Given the description of an element on the screen output the (x, y) to click on. 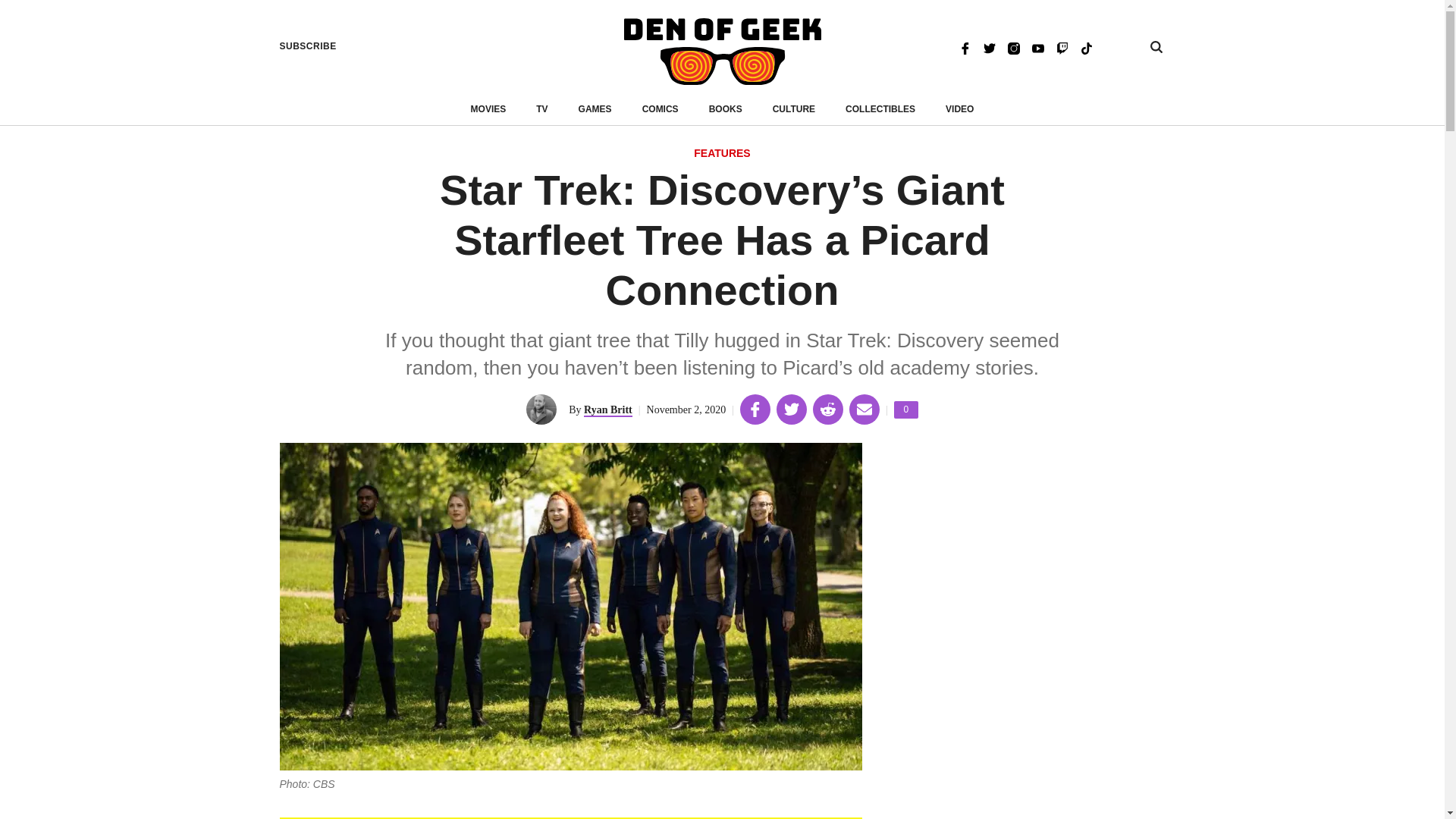
CULTURE (794, 109)
SUBSCRIBE (307, 46)
Twitch (1061, 46)
BOOKS (725, 109)
VIDEO (959, 109)
Twitter (905, 409)
COMICS (988, 46)
TikTok (660, 109)
GAMES (1085, 46)
